Given the description of an element on the screen output the (x, y) to click on. 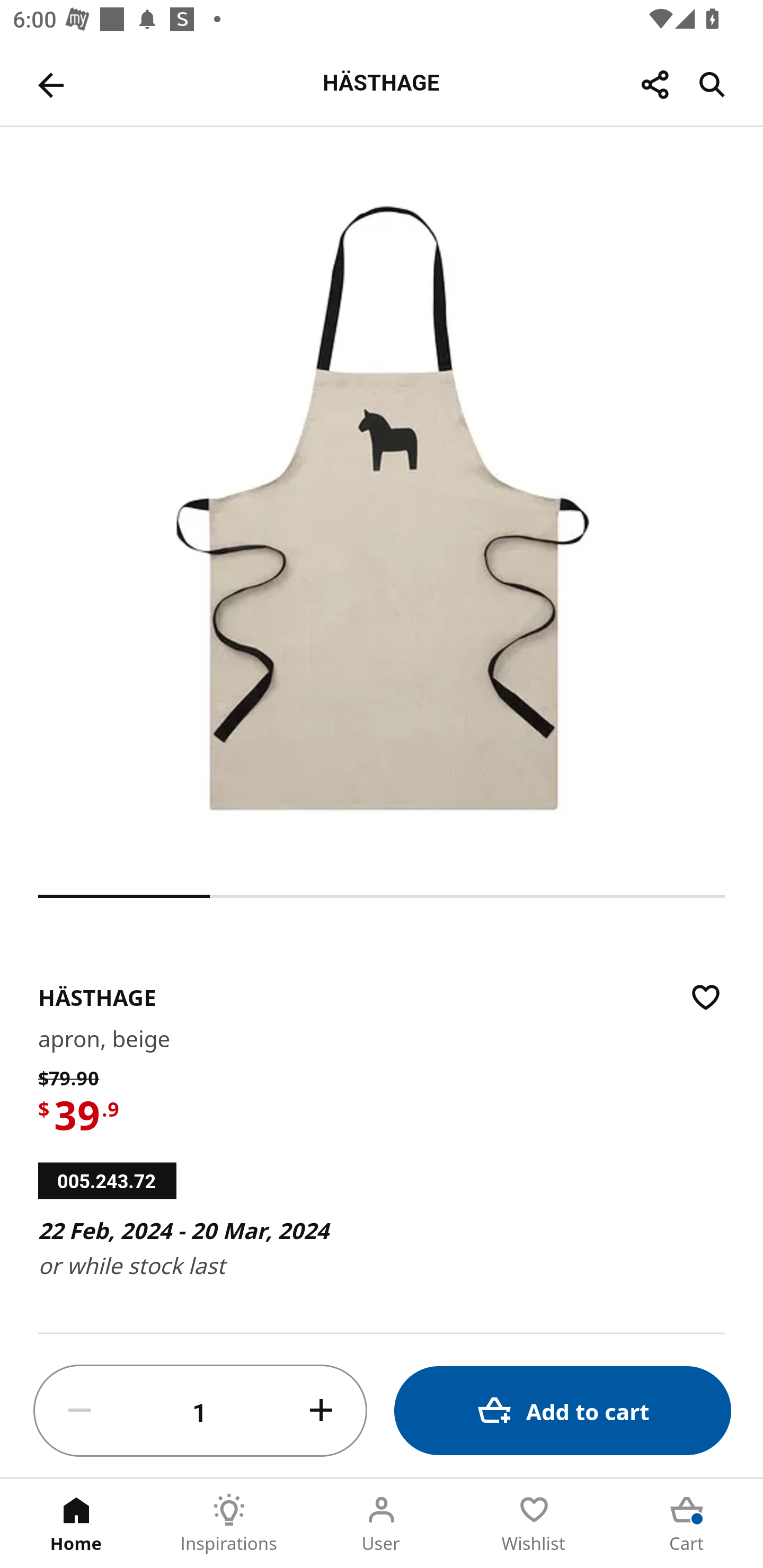
Add to cart (562, 1410)
1 (200, 1411)
Home
Tab 1 of 5 (76, 1522)
Inspirations
Tab 2 of 5 (228, 1522)
User
Tab 3 of 5 (381, 1522)
Wishlist
Tab 4 of 5 (533, 1522)
Cart
Tab 5 of 5 (686, 1522)
